Given the description of an element on the screen output the (x, y) to click on. 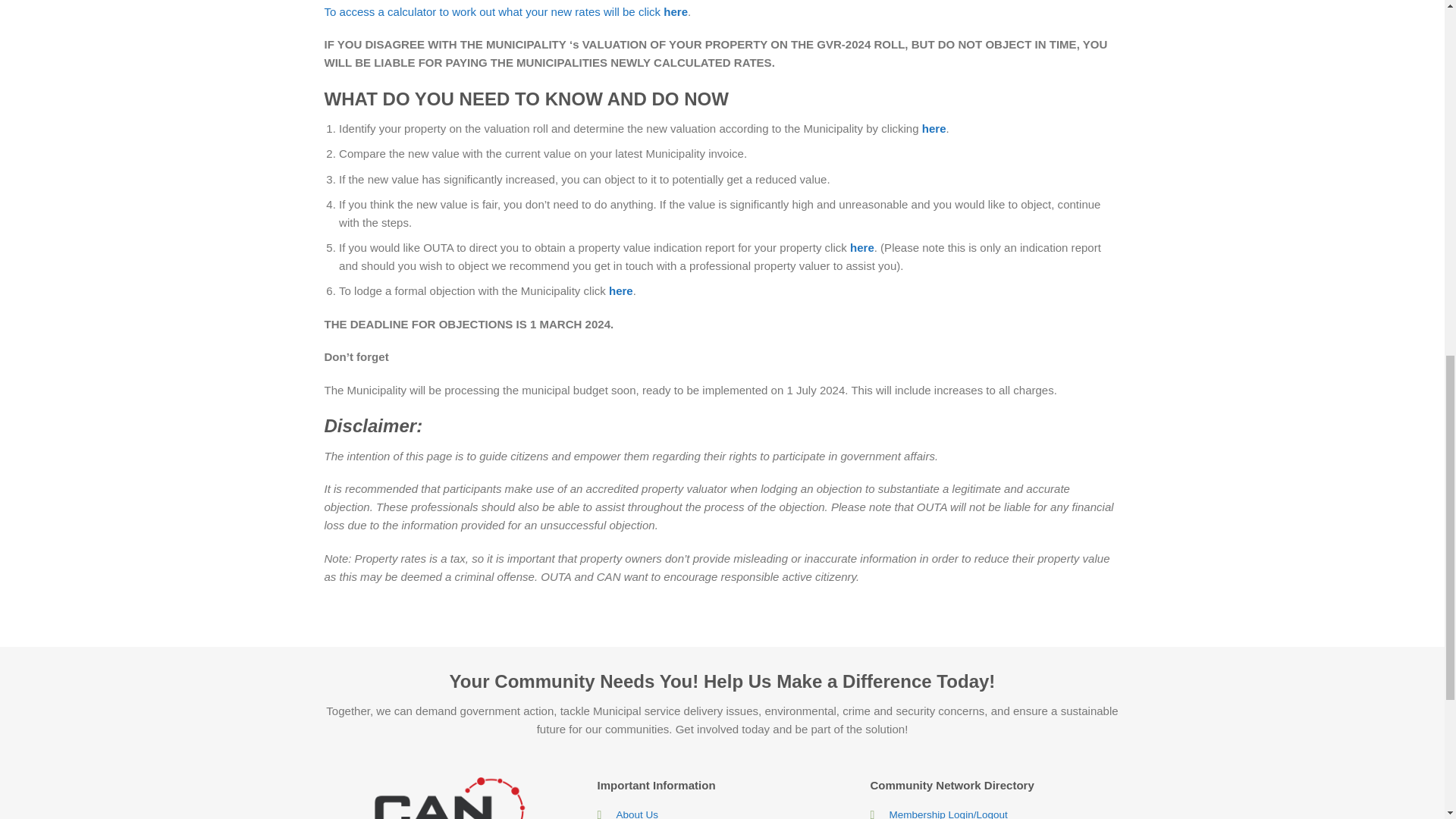
here (620, 290)
About Us (636, 814)
here (862, 246)
Log In (947, 814)
here (933, 128)
